Given the description of an element on the screen output the (x, y) to click on. 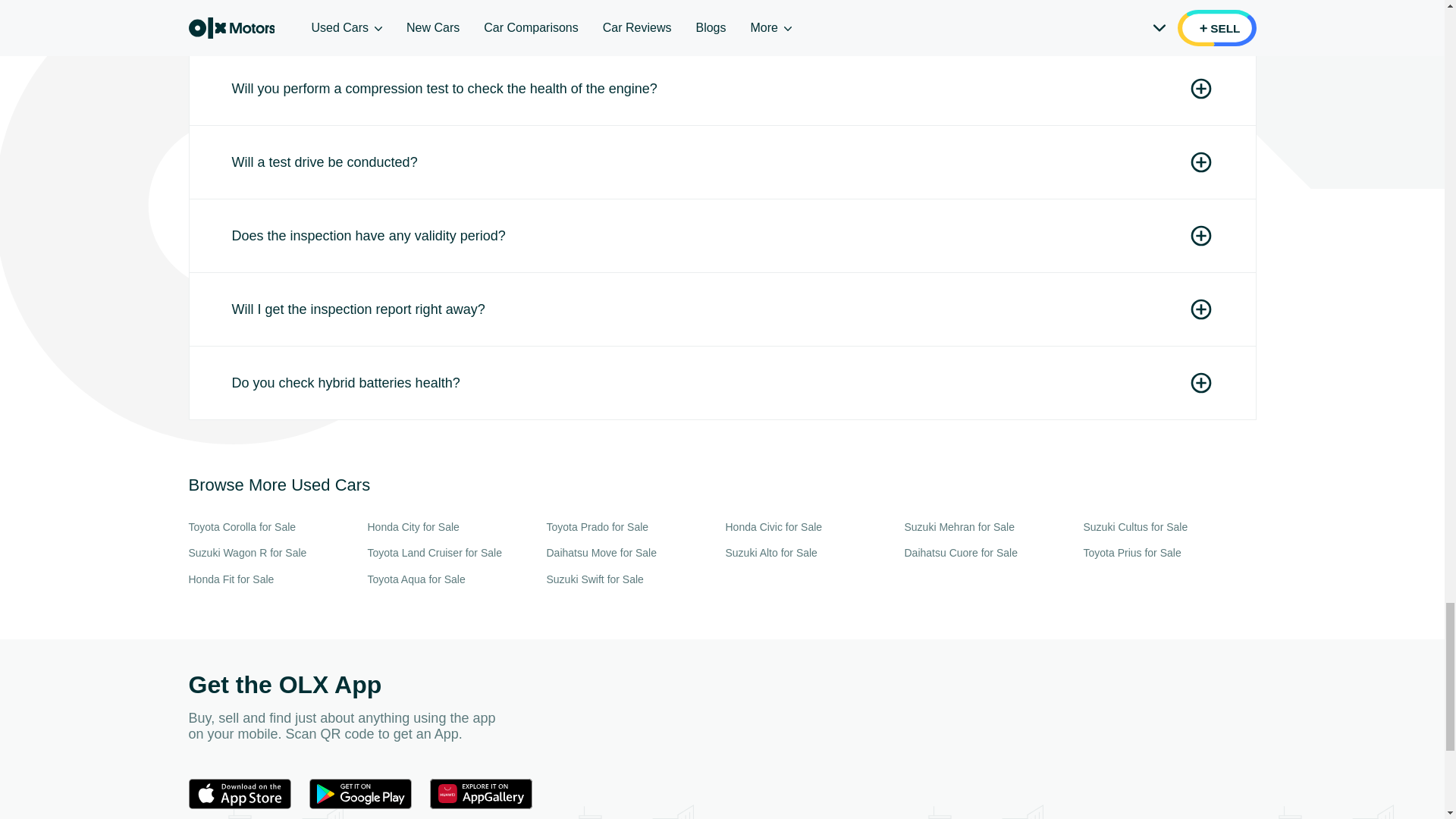
Suzuki Cultus for Sale (1169, 526)
Toyota Corolla for Sale (274, 526)
Toyota Prado for Sale (632, 526)
Suzuki Mehran for Sale (990, 526)
Honda City for Sale (453, 526)
Honda Civic for Sale (811, 526)
Suzuki Wagon R for Sale (274, 553)
